Given the description of an element on the screen output the (x, y) to click on. 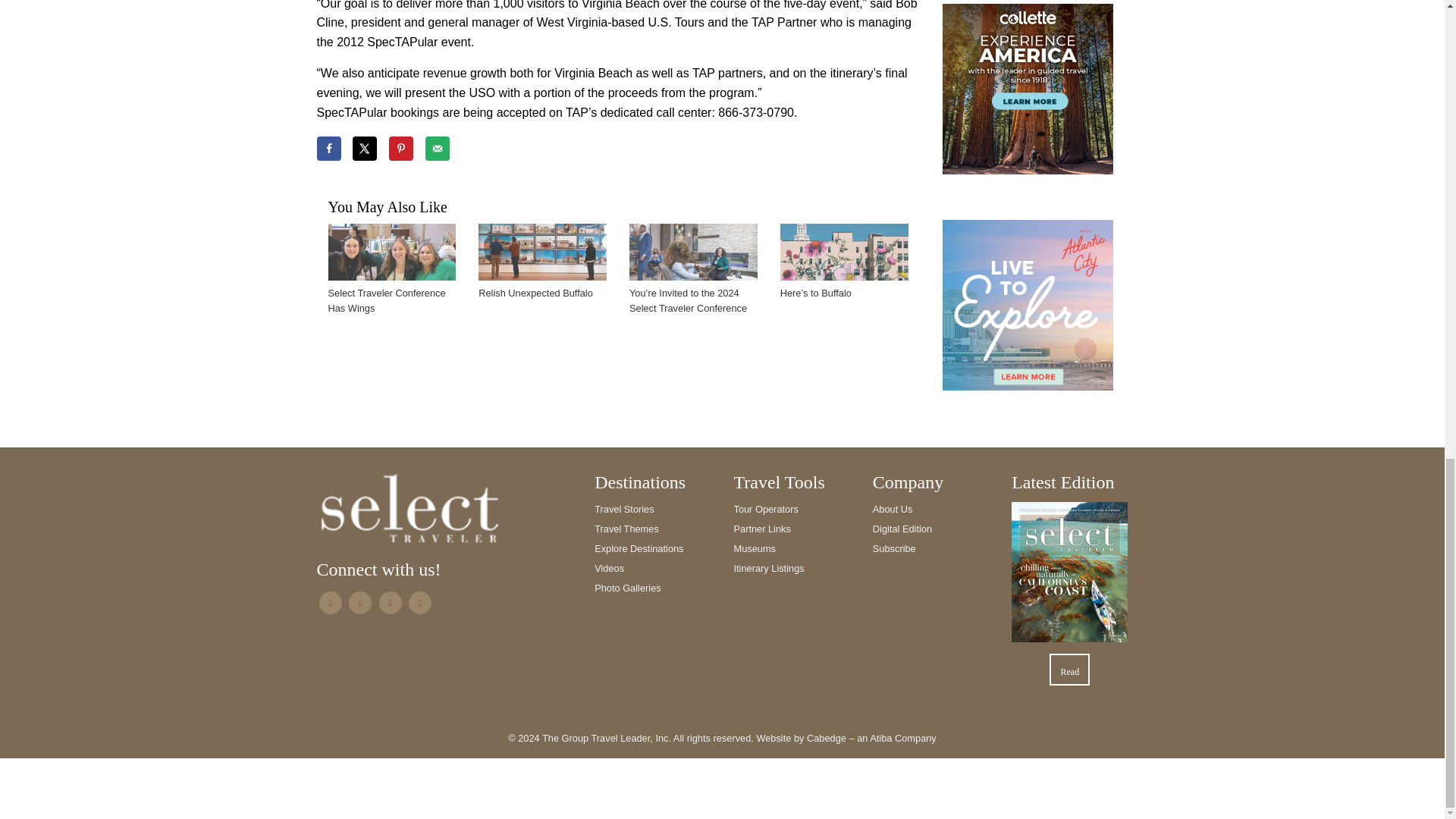
Share on Facebook (328, 148)
Share on X (364, 148)
Save to Pinterest (400, 148)
Send over email (437, 148)
